Given the description of an element on the screen output the (x, y) to click on. 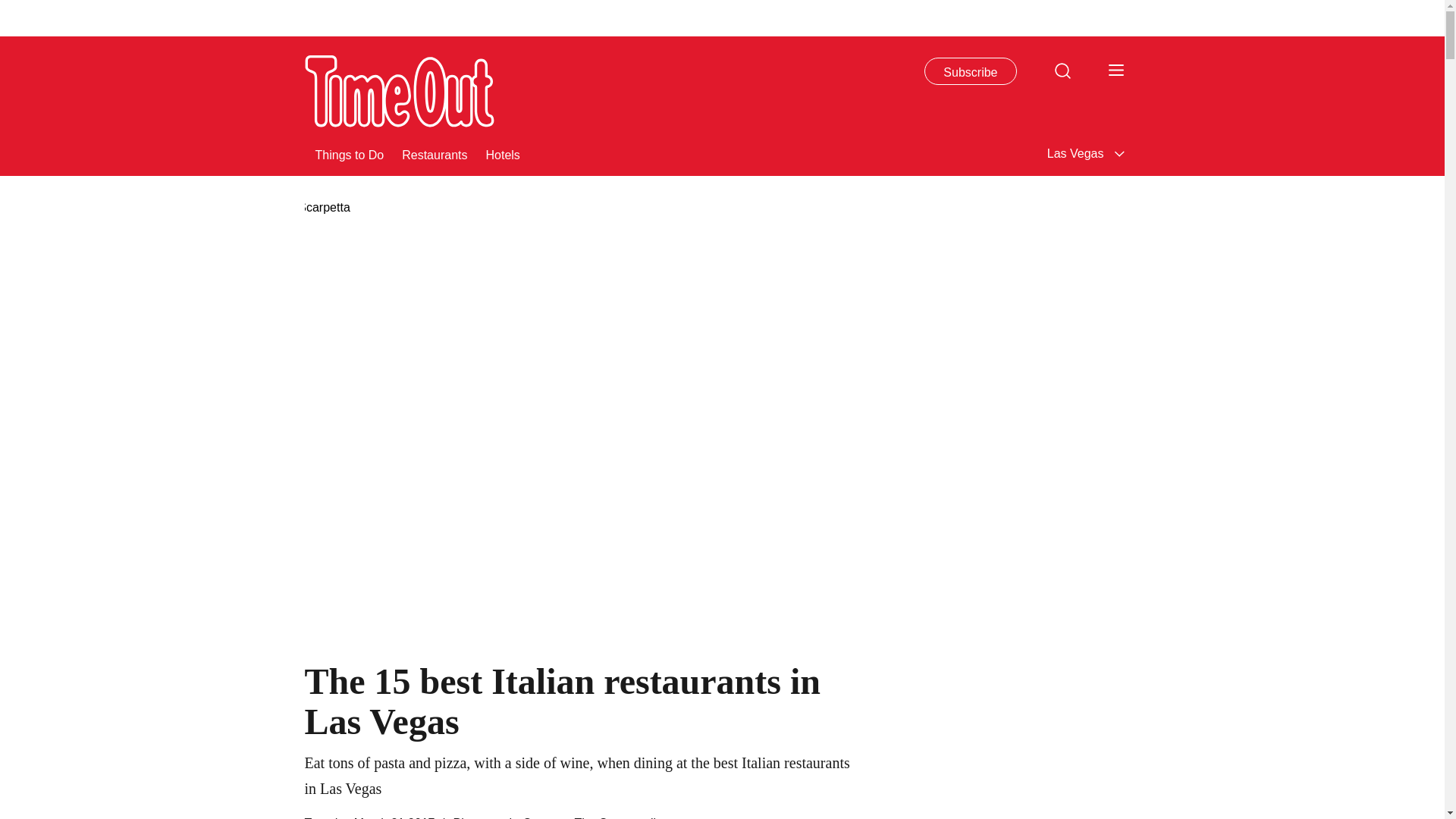
Things to Do (349, 153)
Hotels (502, 153)
Restaurants (434, 153)
Search (1061, 69)
Subscribe (970, 71)
Hotels (502, 153)
Go to the content (10, 7)
Things to Do (349, 153)
Las Vegas (1086, 153)
Restaurants (434, 153)
